Given the description of an element on the screen output the (x, y) to click on. 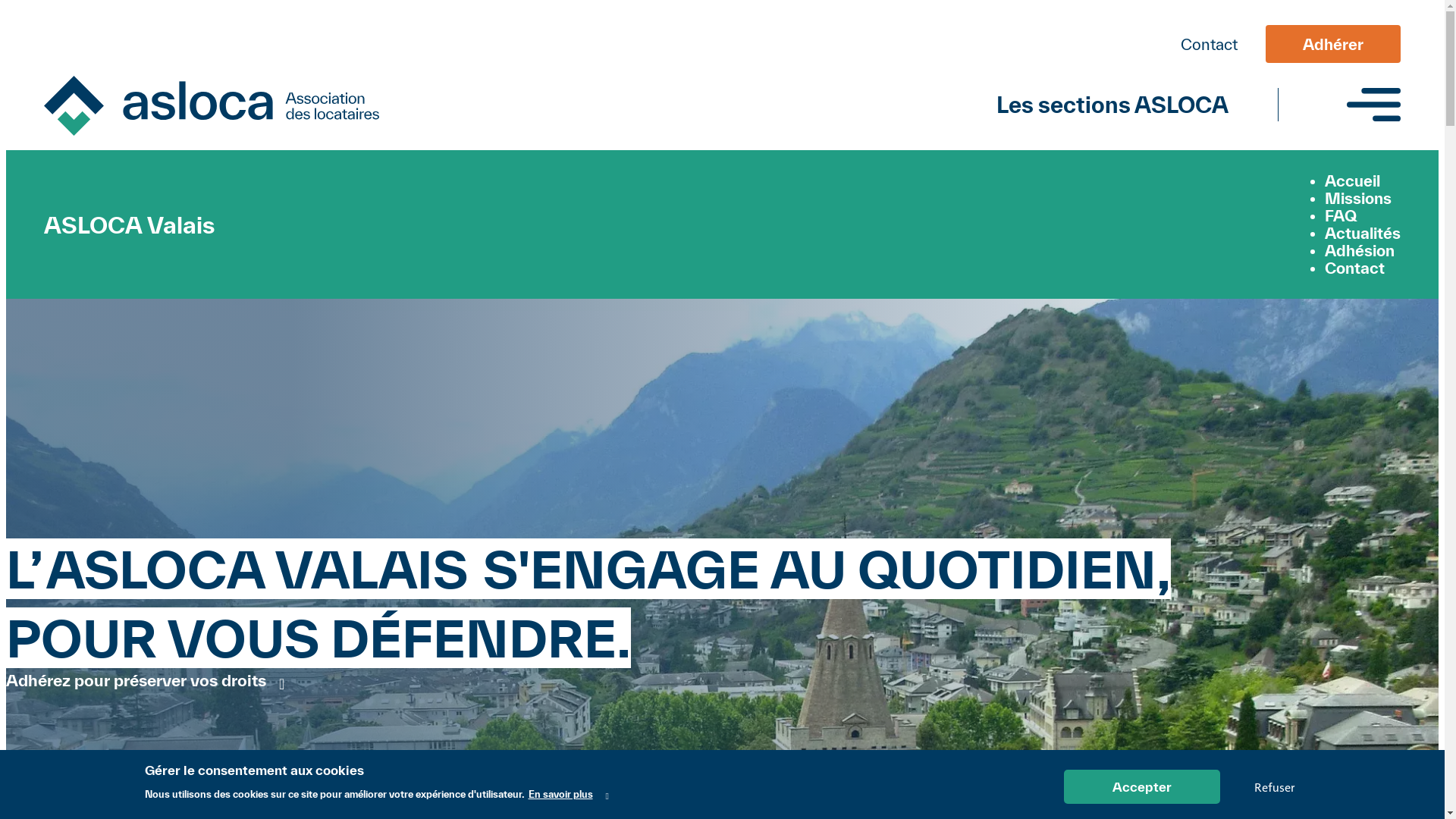
En savoir plus Element type: text (567, 795)
Missions Element type: text (1357, 198)
Contact Element type: text (1354, 267)
Aller au contenu principal Element type: text (722, 7)
Contact Element type: text (1208, 43)
Home Element type: hover (211, 106)
Accepter Element type: text (1141, 786)
Refuser Element type: text (1274, 786)
Les sections ASLOCA Element type: text (1112, 104)
Accueil Element type: text (1352, 180)
FAQ Element type: text (1340, 215)
